Given the description of an element on the screen output the (x, y) to click on. 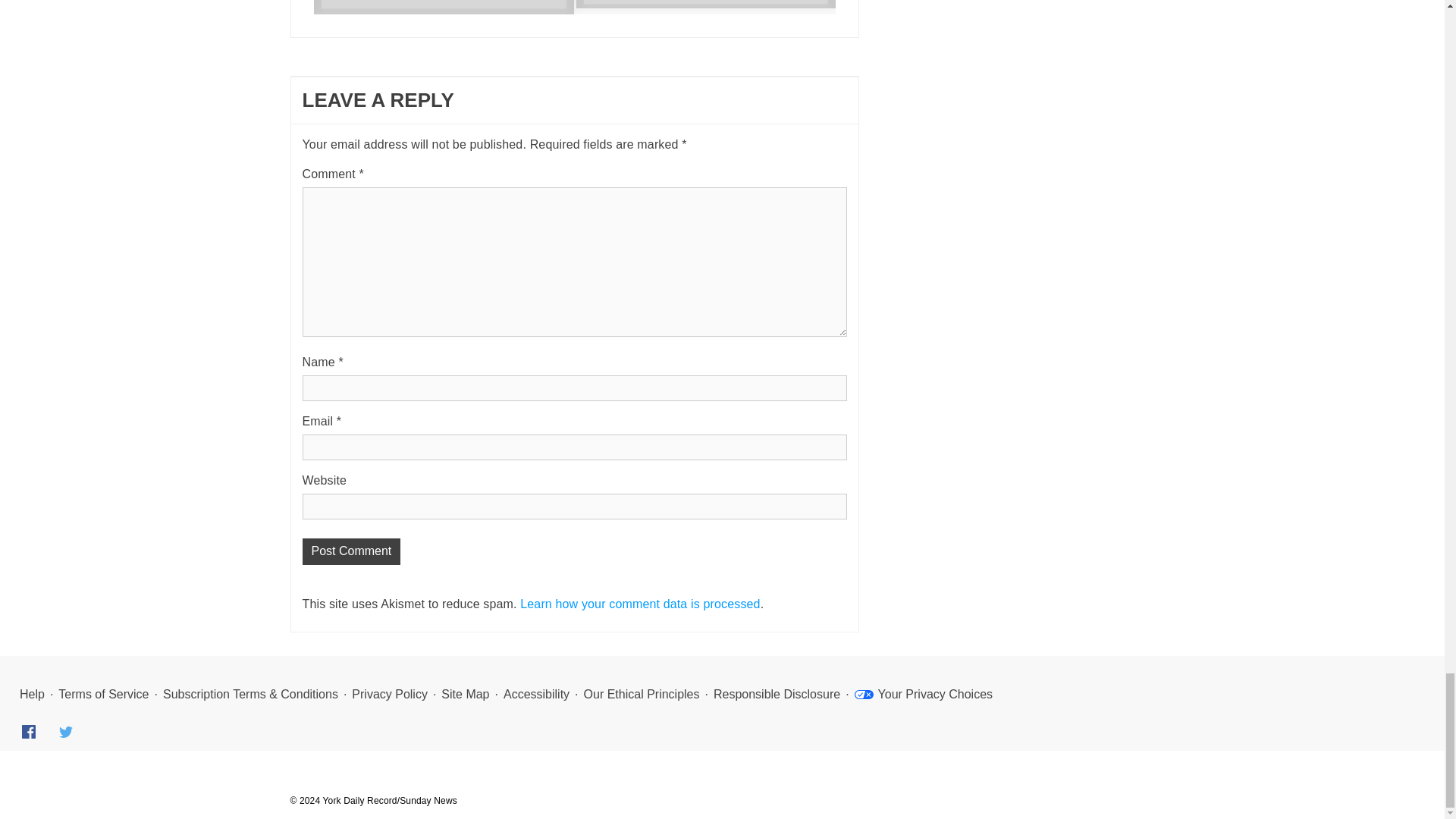
Post Comment (350, 551)
Learn how your comment data is processed (639, 603)
Post Comment (350, 551)
